Given the description of an element on the screen output the (x, y) to click on. 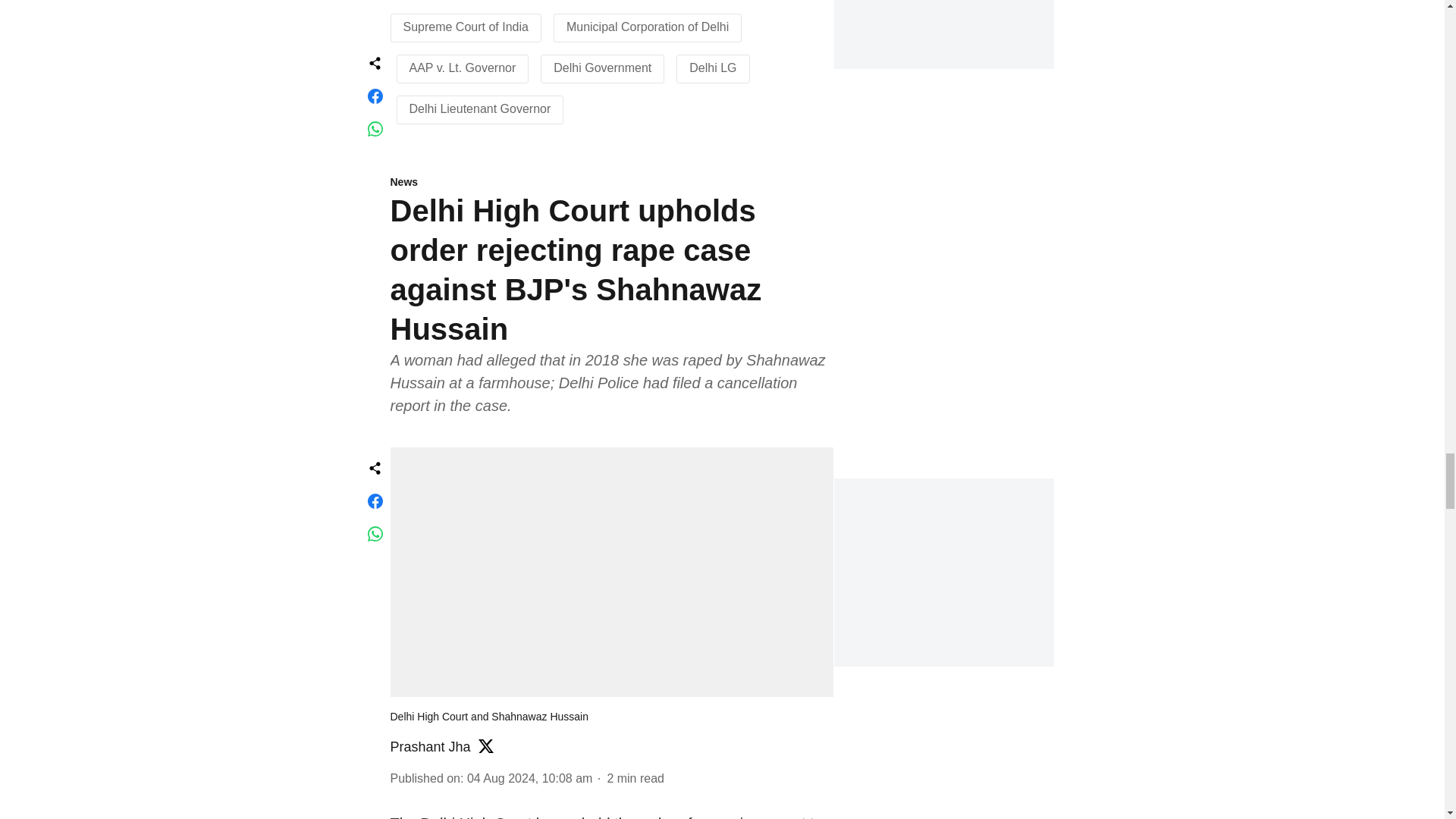
2024-08-04 02:08 (529, 778)
